Given the description of an element on the screen output the (x, y) to click on. 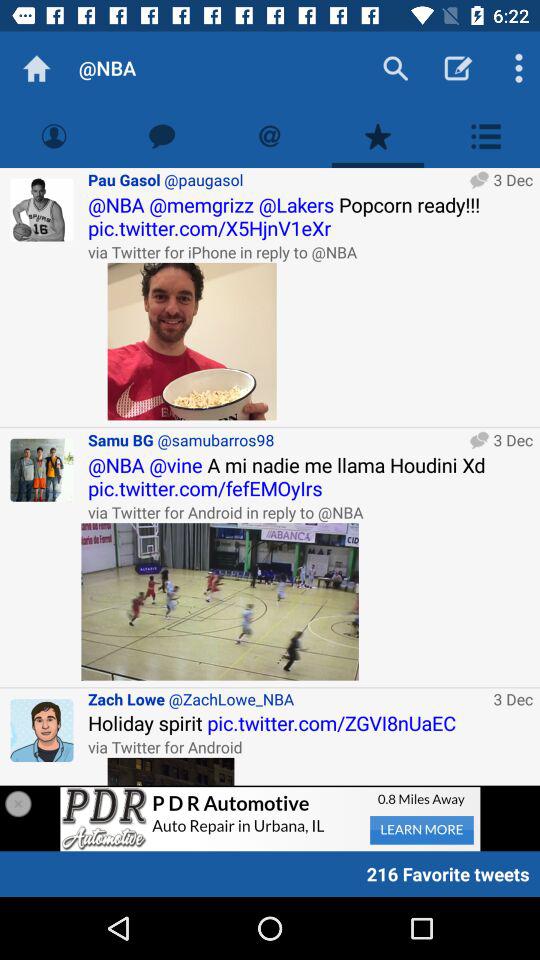
enlarge picture (219, 601)
